Given the description of an element on the screen output the (x, y) to click on. 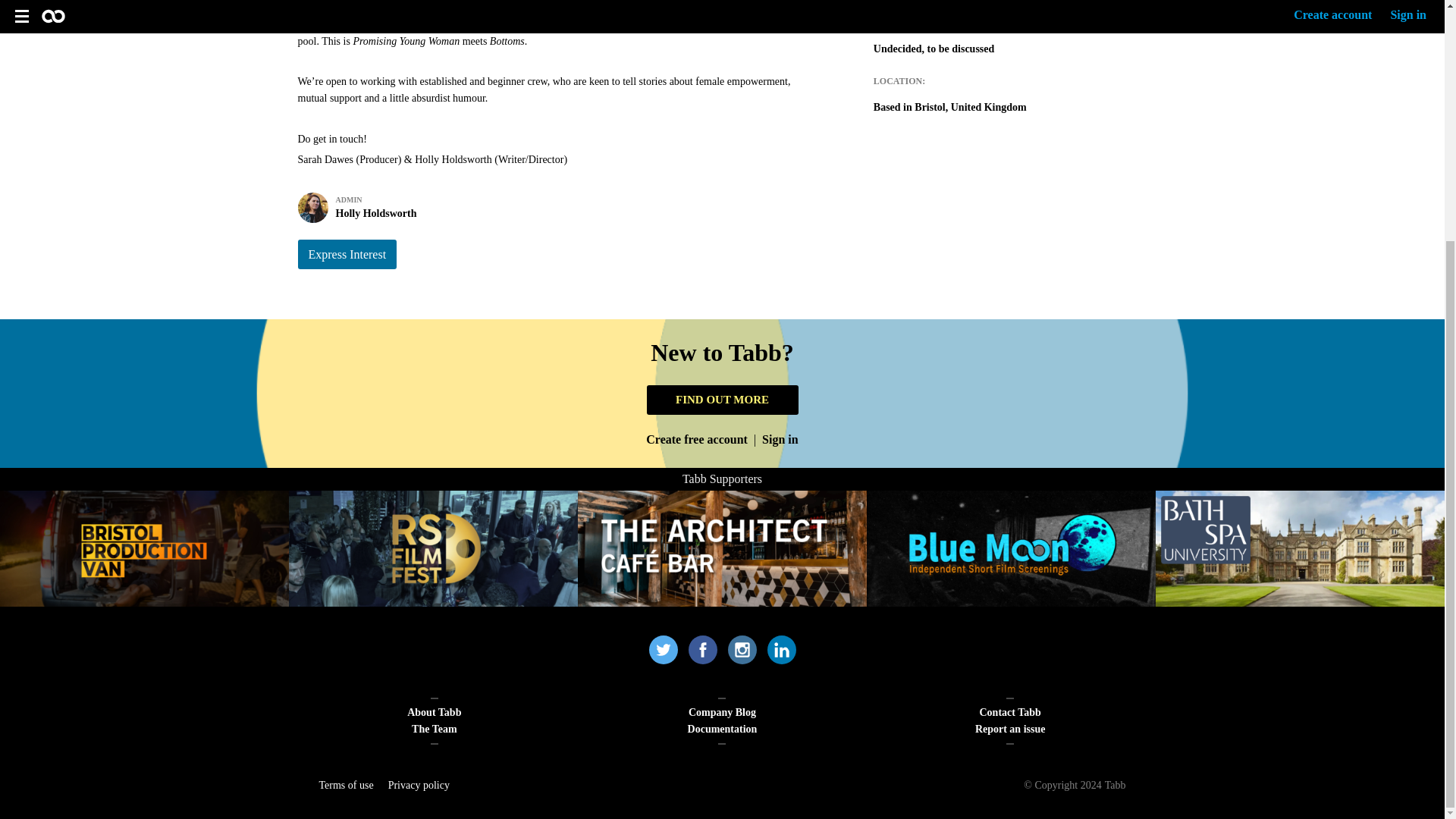
Blue Moon independent short film screenings (1011, 548)
Create free account (697, 439)
Bristol Production Van kit hire (556, 207)
Reel Social film festival (144, 548)
Express Interest (433, 548)
FIND OUT MORE (346, 254)
Sign in (721, 399)
